Given the description of an element on the screen output the (x, y) to click on. 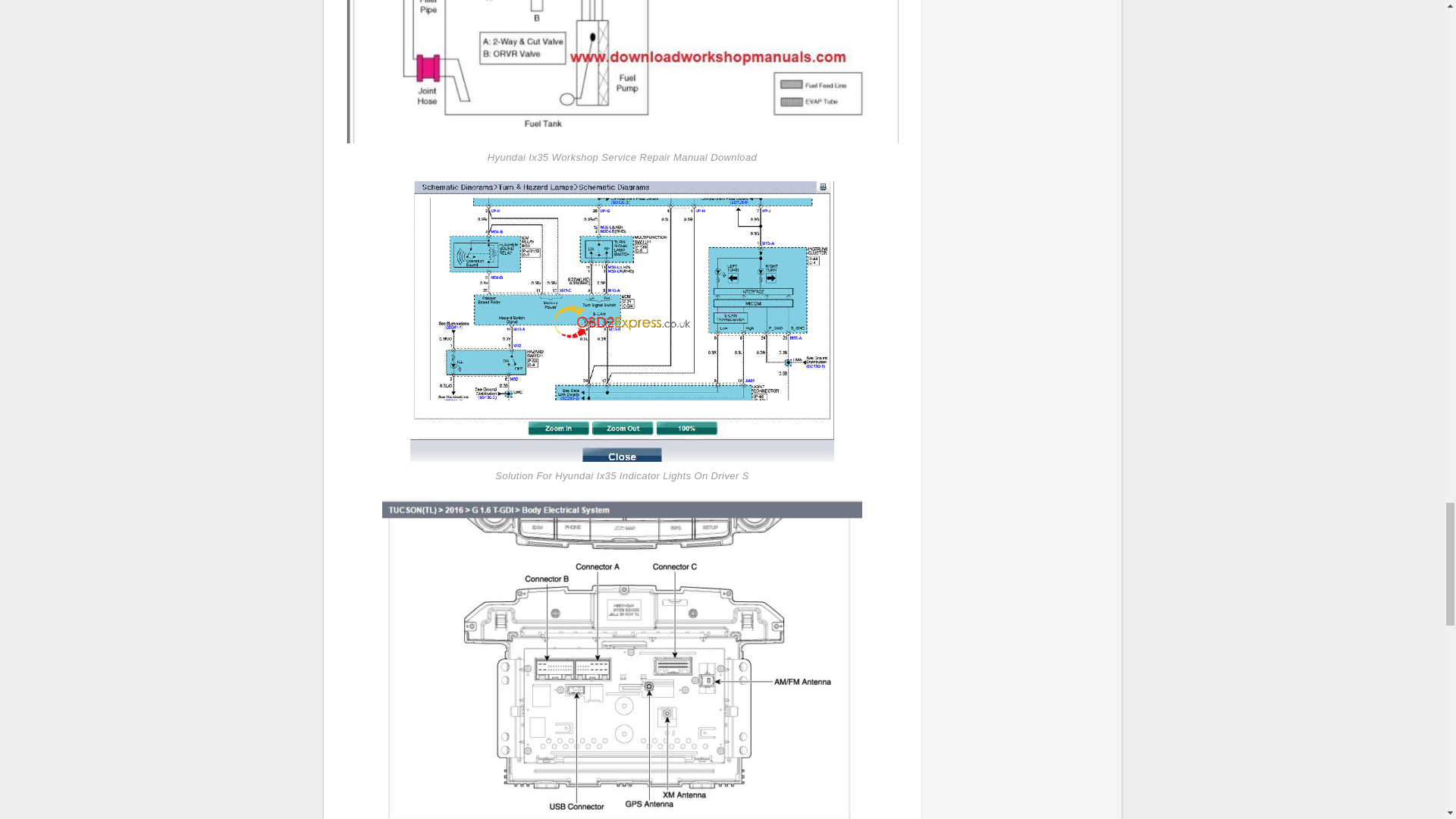
Solution For Hyundai Ix35 Indicator Lights On Driver S (622, 320)
Hyundai Ix35 Workshop Service Repair Manual Download (622, 71)
Solution For Hyundai Ix35 Indicator Lights On Driver S (622, 320)
